Given the description of an element on the screen output the (x, y) to click on. 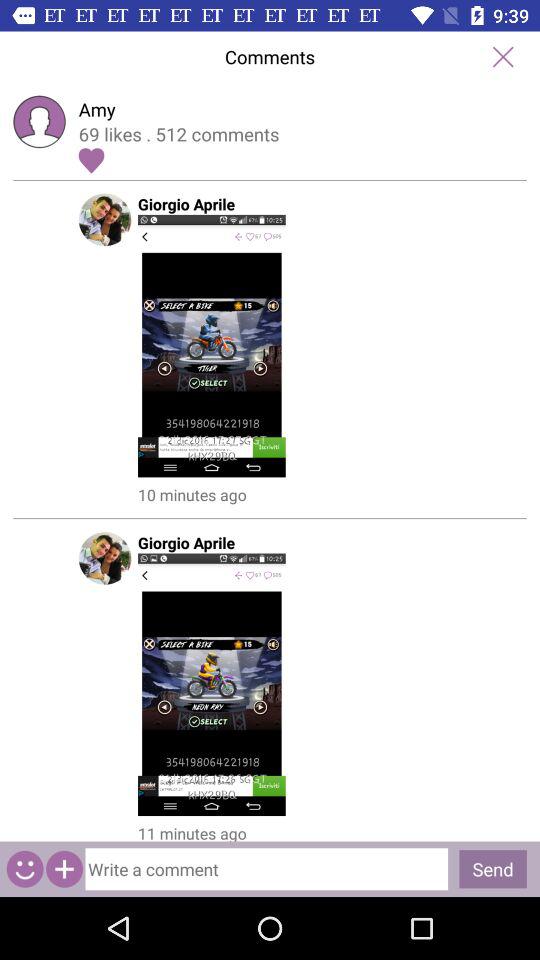
select emaji (24, 868)
